Given the description of an element on the screen output the (x, y) to click on. 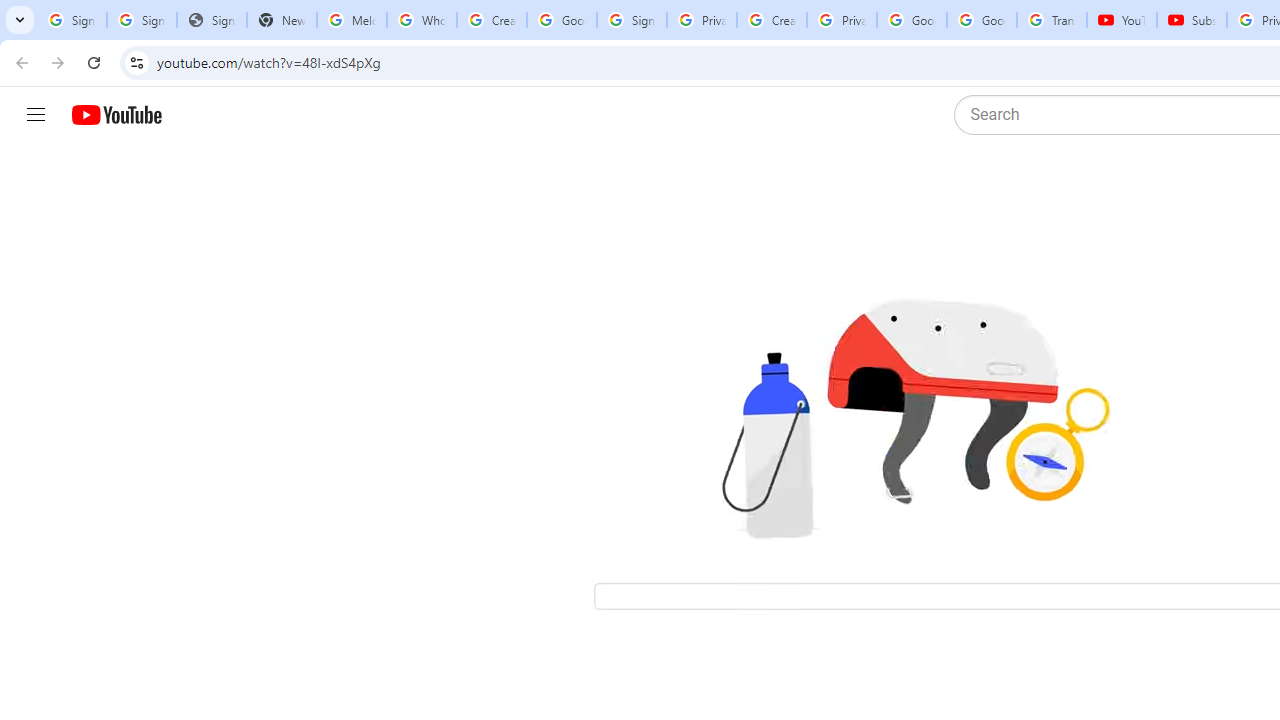
Who is my administrator? - Google Account Help (421, 20)
Create your Google Account (772, 20)
Sign in - Google Accounts (631, 20)
Sign in - Google Accounts (141, 20)
